Given the description of an element on the screen output the (x, y) to click on. 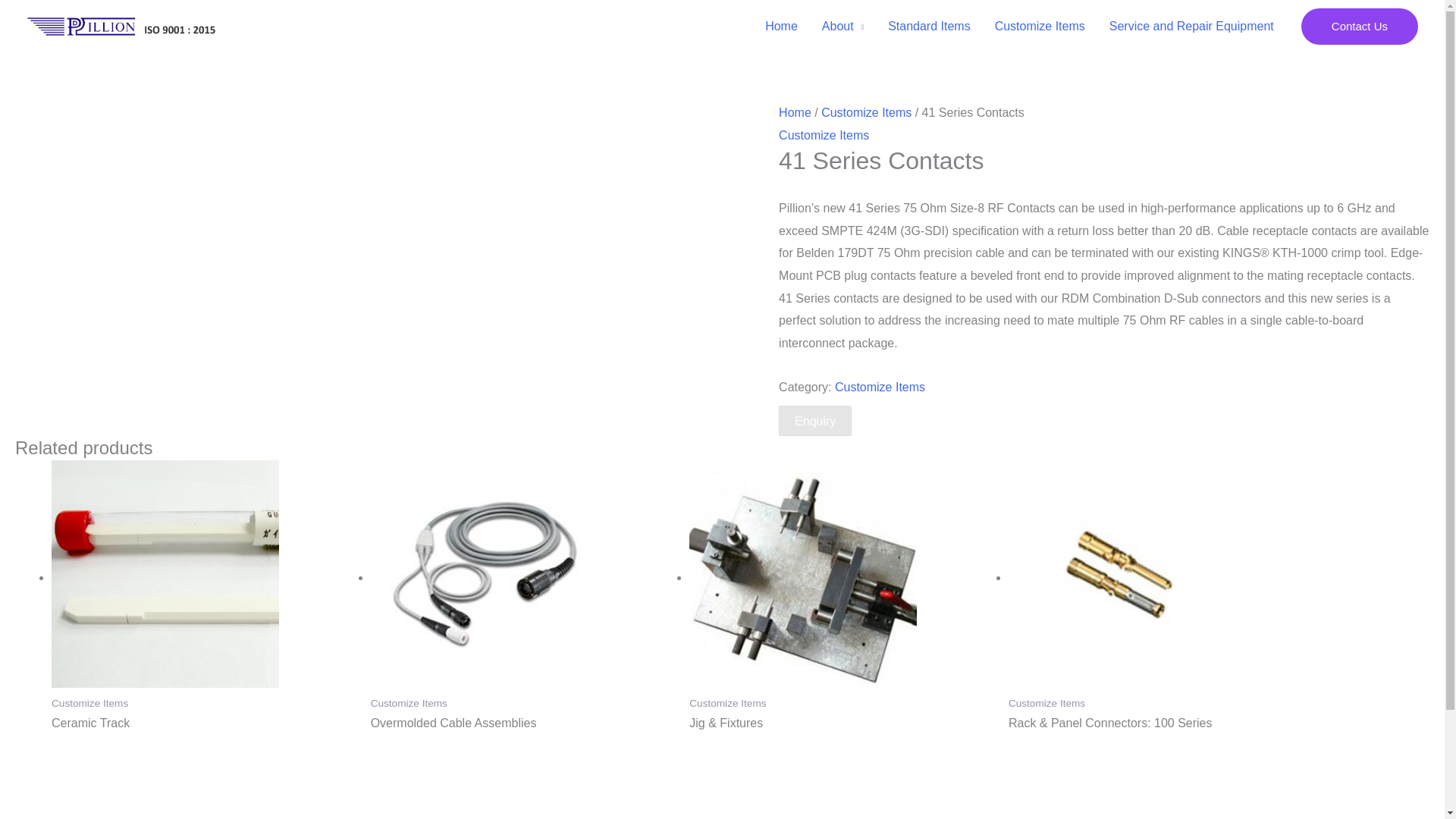
Customize Items (879, 386)
Ceramic Track (202, 723)
Standard Items (929, 26)
Home (780, 26)
Home (794, 112)
Customize Items (866, 112)
Service and Repair Equipment (1191, 26)
Enquiry (814, 420)
Customize Items (1039, 26)
Customize Items (823, 134)
About (842, 26)
Contact Us (1359, 26)
Overmolded Cable Assemblies (523, 723)
